Given the description of an element on the screen output the (x, y) to click on. 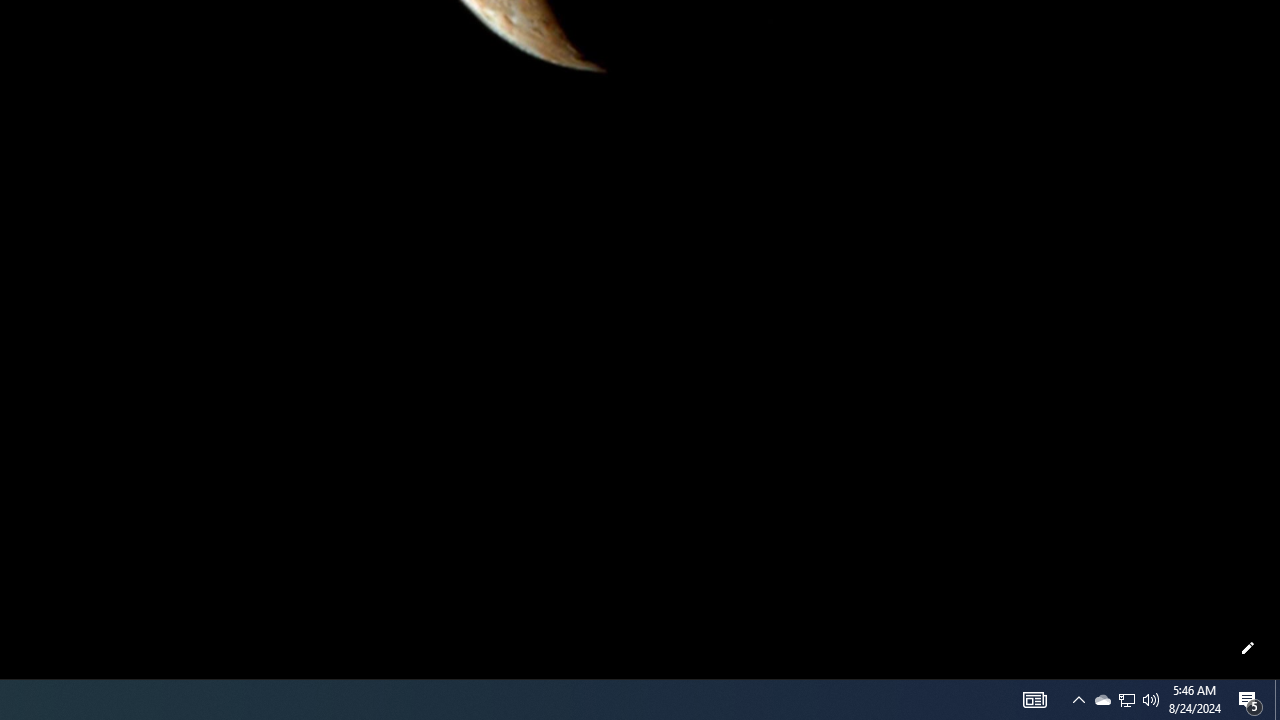
Customize this page (1247, 647)
